Given the description of an element on the screen output the (x, y) to click on. 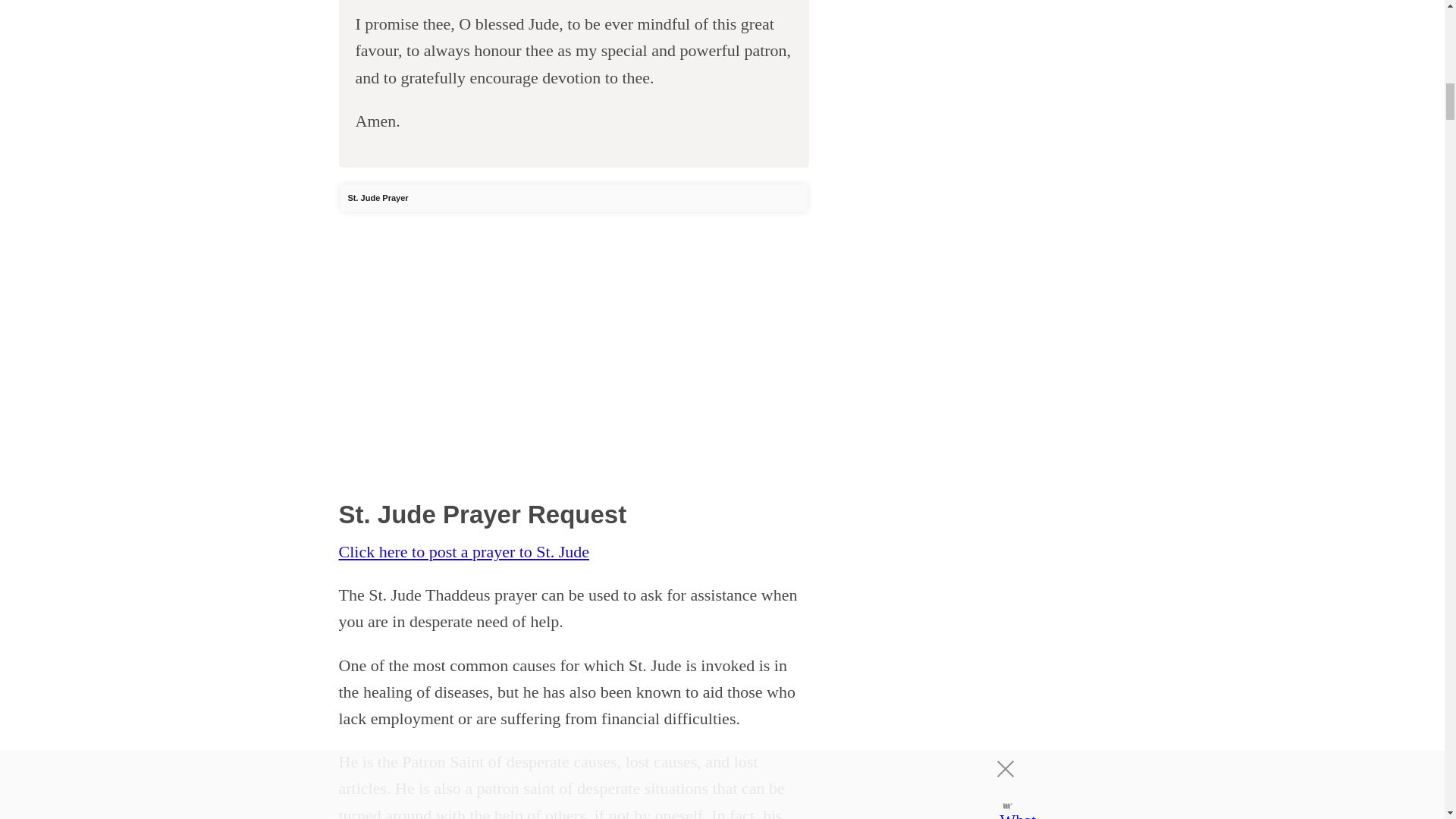
Click here to post a prayer to St. Jude (463, 551)
